Given the description of an element on the screen output the (x, y) to click on. 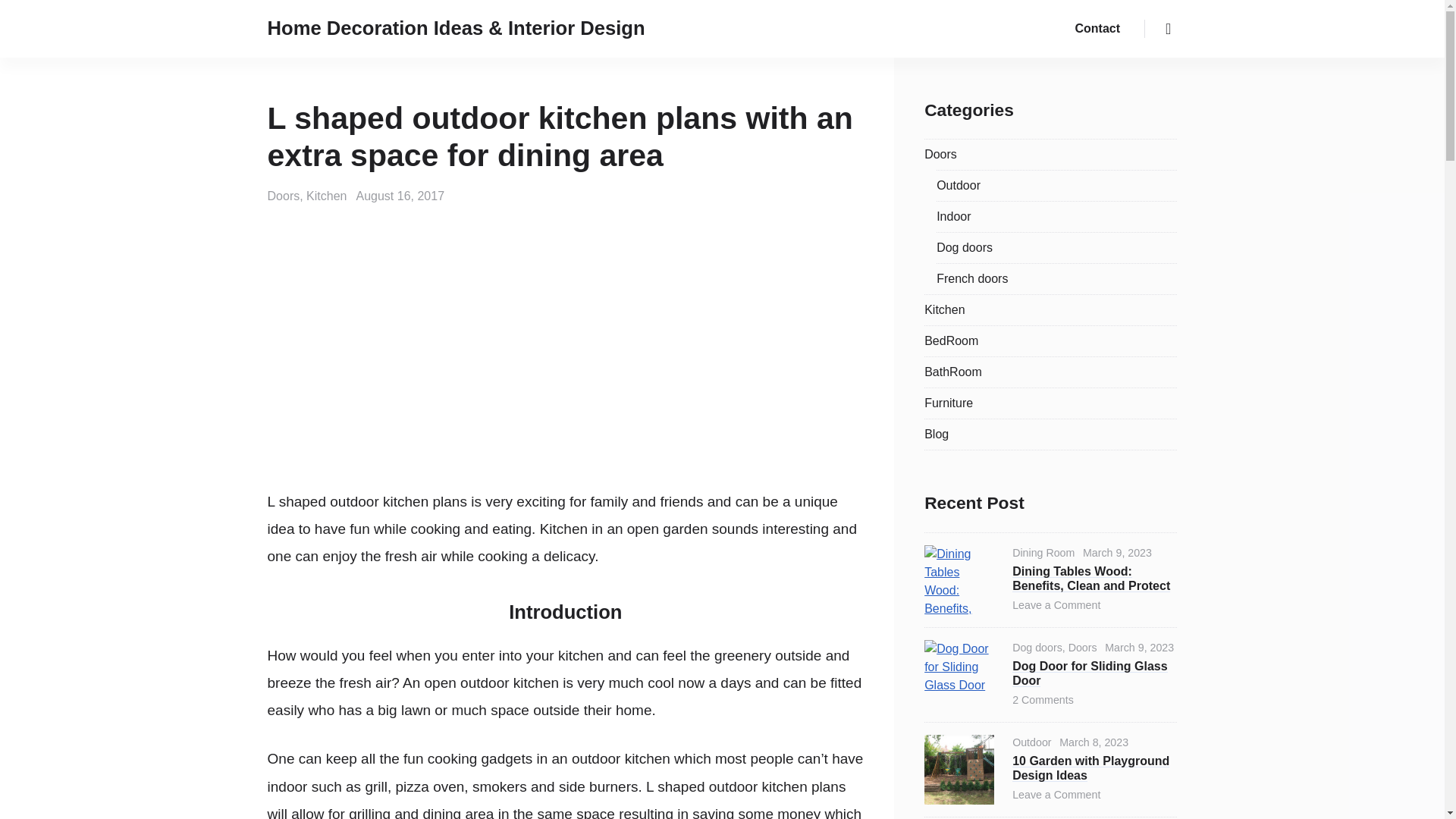
Doors (940, 154)
Indoor (953, 215)
BathRoom (952, 371)
Doors (283, 195)
Kitchen (325, 195)
Dog doors (964, 246)
BedRoom (951, 340)
Outdoor (957, 185)
Blog (936, 433)
